Given the description of an element on the screen output the (x, y) to click on. 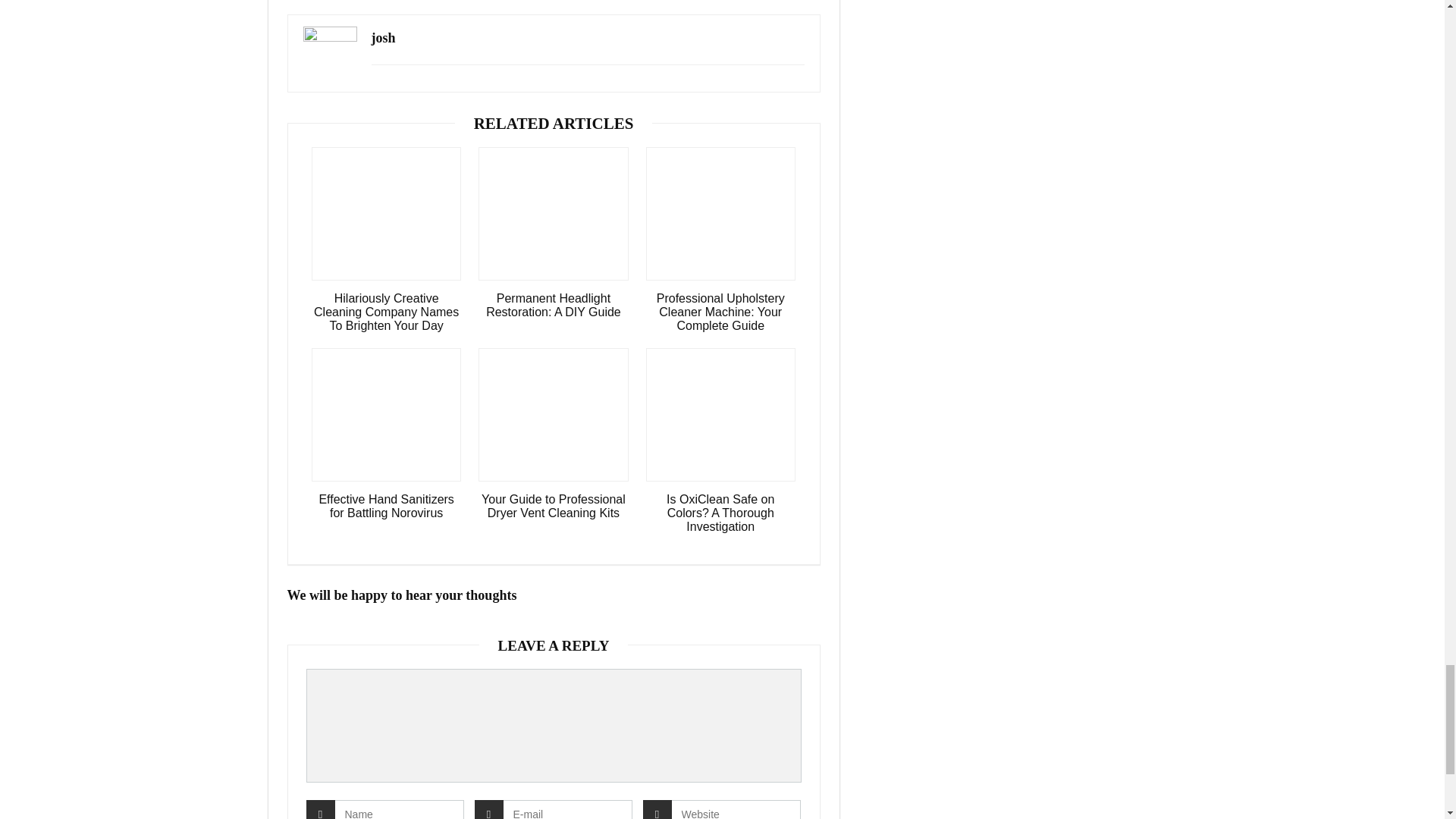
Is OxiClean Safe on Colors? A Thorough Investigation (720, 513)
Is OxiClean Safe on Colors? A Thorough Investigation (720, 513)
Permanent Headlight Restoration: A DIY Guide (553, 305)
Effective Hand Sanitizers for Battling Norovirus (386, 506)
Your Guide to Professional Dryer Vent Cleaning Kits (553, 506)
Professional Upholstery Cleaner Machine: Your Complete Guide (720, 311)
Your Guide to Professional Dryer Vent Cleaning Kits (553, 506)
Posts by josh (383, 37)
josh (383, 37)
Professional Upholstery Cleaner Machine: Your Complete Guide (720, 311)
Permanent Headlight Restoration: A DIY Guide (553, 305)
Effective Hand Sanitizers for Battling Norovirus (386, 506)
